Given the description of an element on the screen output the (x, y) to click on. 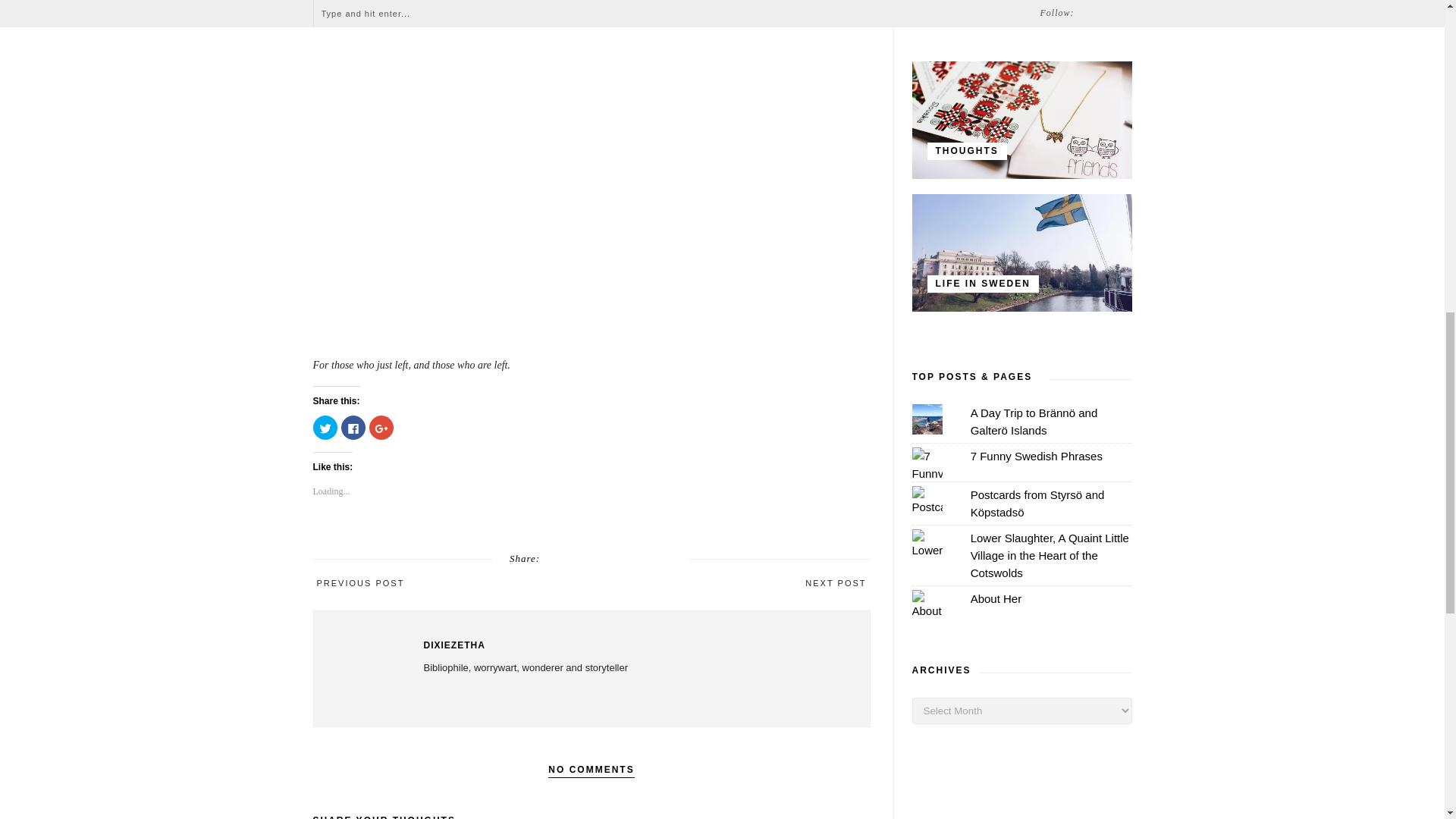
Posts by Dixiezetha (633, 645)
Click to share on Twitter (324, 427)
Click to share on Facebook (352, 427)
